Given the description of an element on the screen output the (x, y) to click on. 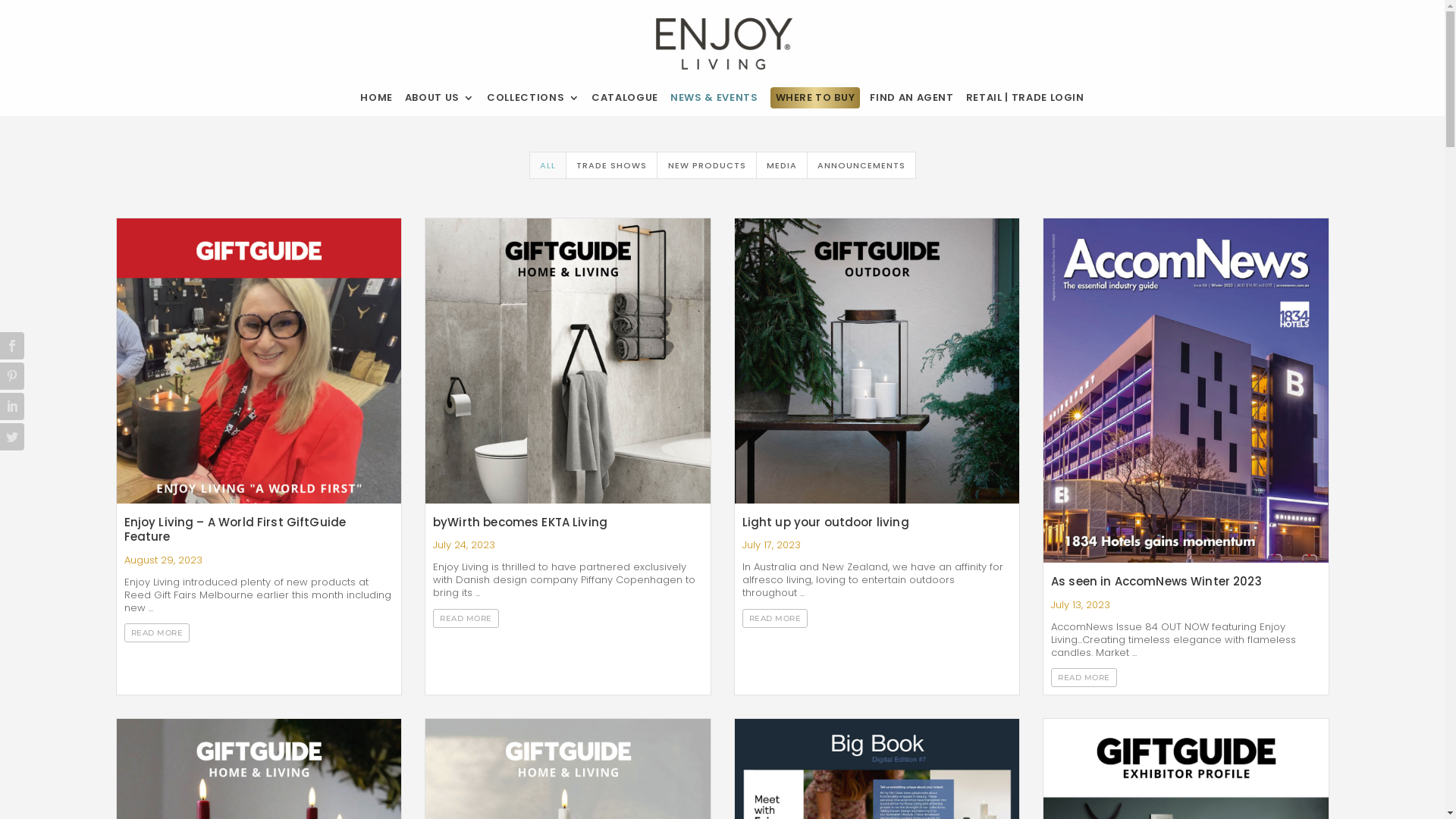
HOME Element type: text (376, 97)
RETAIL | TRADE LOGIN Element type: text (1025, 97)
TRADE SHOWS Element type: text (611, 164)
FIND AN AGENT Element type: text (911, 97)
MEDIA Element type: text (781, 164)
READ MORE Element type: text (1084, 677)
READ MORE Element type: text (157, 632)
As seen in AccomNews Winter 2023 Element type: text (1156, 581)
byWirth becomes EKTA Living Element type: text (520, 522)
CATALOGUE Element type: text (624, 97)
READ MORE Element type: text (465, 617)
WHERE TO BUY Element type: text (814, 97)
Light up your outdoor living Element type: text (824, 522)
ABOUT US Element type: text (439, 97)
ANNOUNCEMENTS Element type: text (861, 164)
NEW PRODUCTS Element type: text (706, 164)
NEWS & EVENTS Element type: text (713, 97)
READ MORE Element type: text (774, 617)
ALL Element type: text (547, 164)
COLLECTIONS Element type: text (532, 97)
